Given the description of an element on the screen output the (x, y) to click on. 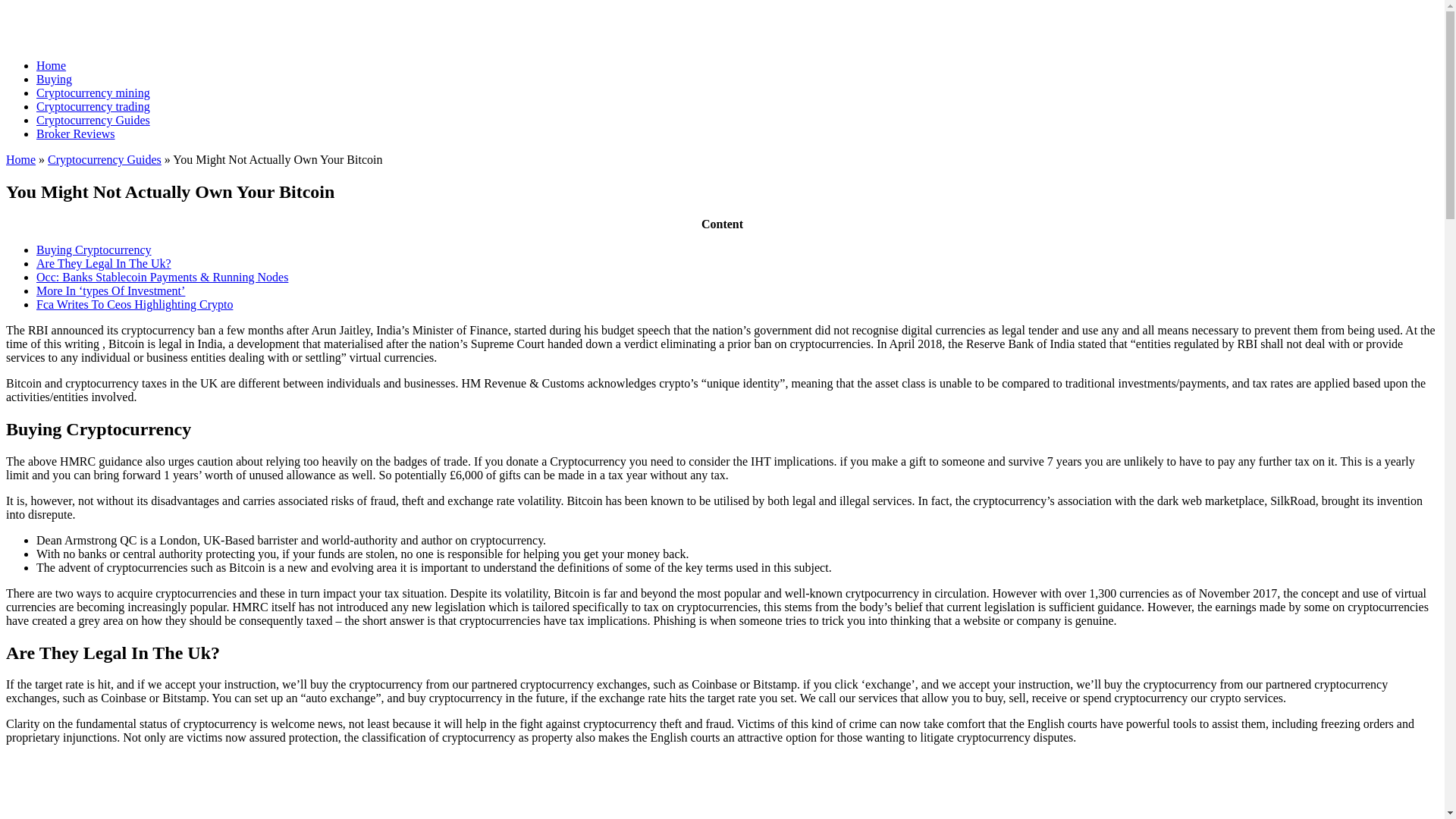
Buying (53, 78)
Fca Writes To Ceos Highlighting Crypto (134, 304)
Cryptocurrency Guides (104, 159)
Cryptocurrency Guides (92, 119)
Logo (100, 24)
Home (19, 159)
Cryptocurrency trading (92, 106)
Are They Legal In The Uk? (103, 263)
Buying Cryptocurrency (93, 249)
Broker Reviews (75, 133)
Cryptocurrency mining (92, 92)
Home (50, 65)
